Given the description of an element on the screen output the (x, y) to click on. 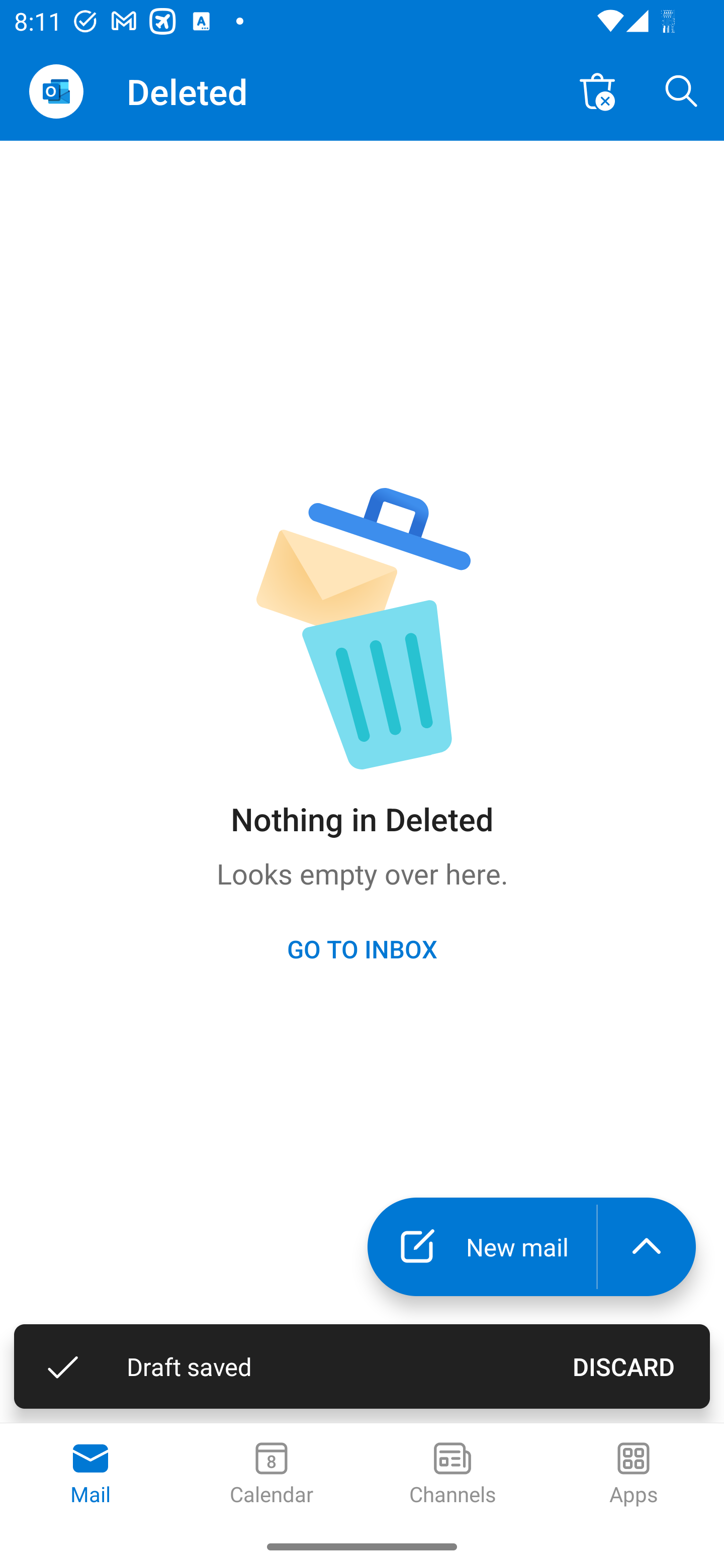
Empty Deleted (597, 90)
Search, ,  (681, 90)
Open Navigation Drawer (55, 91)
GO TO INBOX (362, 948)
New mail (481, 1246)
launch the extended action menu (646, 1246)
DISCARD (623, 1366)
Calendar (271, 1474)
Channels (452, 1474)
Apps (633, 1474)
